Given the description of an element on the screen output the (x, y) to click on. 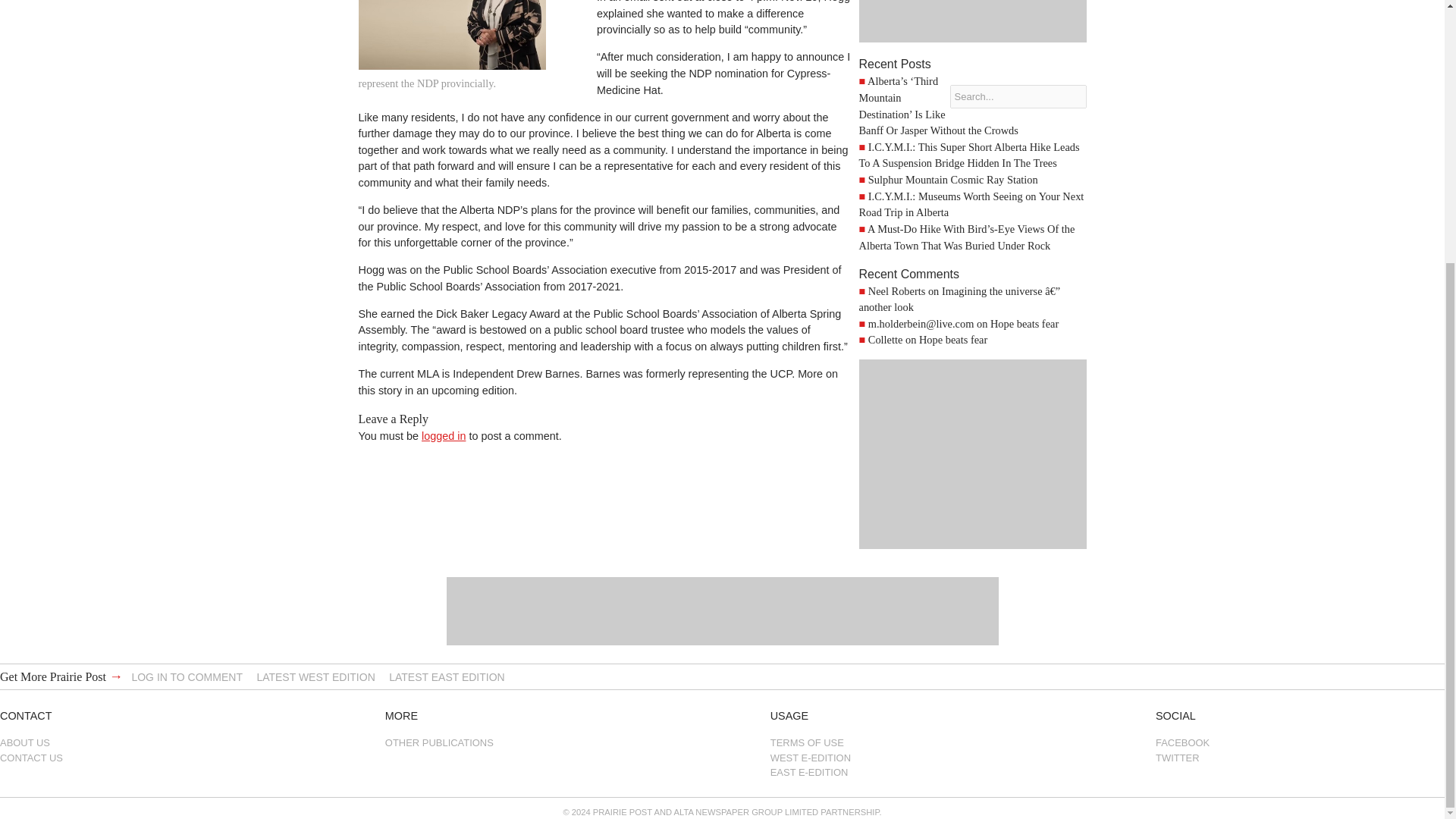
Sulphur Mountain Cosmic Ray Station (952, 179)
3rd party ad content (972, 453)
3rd party ad content (972, 21)
3rd party ad content (721, 611)
